Given the description of an element on the screen output the (x, y) to click on. 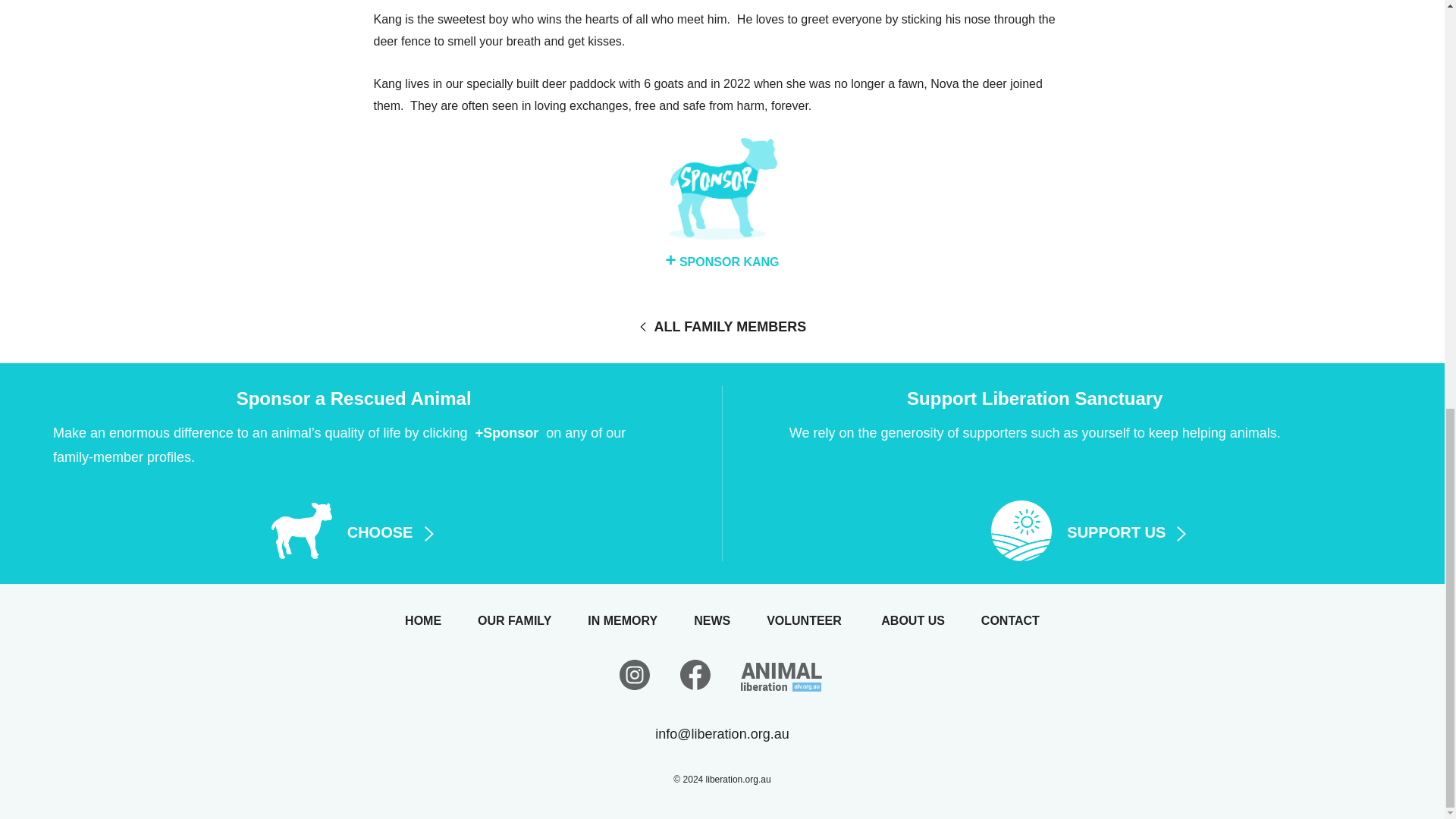
HOME (440, 620)
NEWS (730, 620)
CHOOSE   (353, 530)
VOLUNTEER (822, 620)
ABOUT US (930, 620)
SUPPORT US   (1090, 530)
IN MEMORY (641, 620)
ALL FAMILY MEMBERS (722, 326)
CONTACT (1010, 620)
ALV website (783, 684)
OUR FAMILY (532, 620)
